Given the description of an element on the screen output the (x, y) to click on. 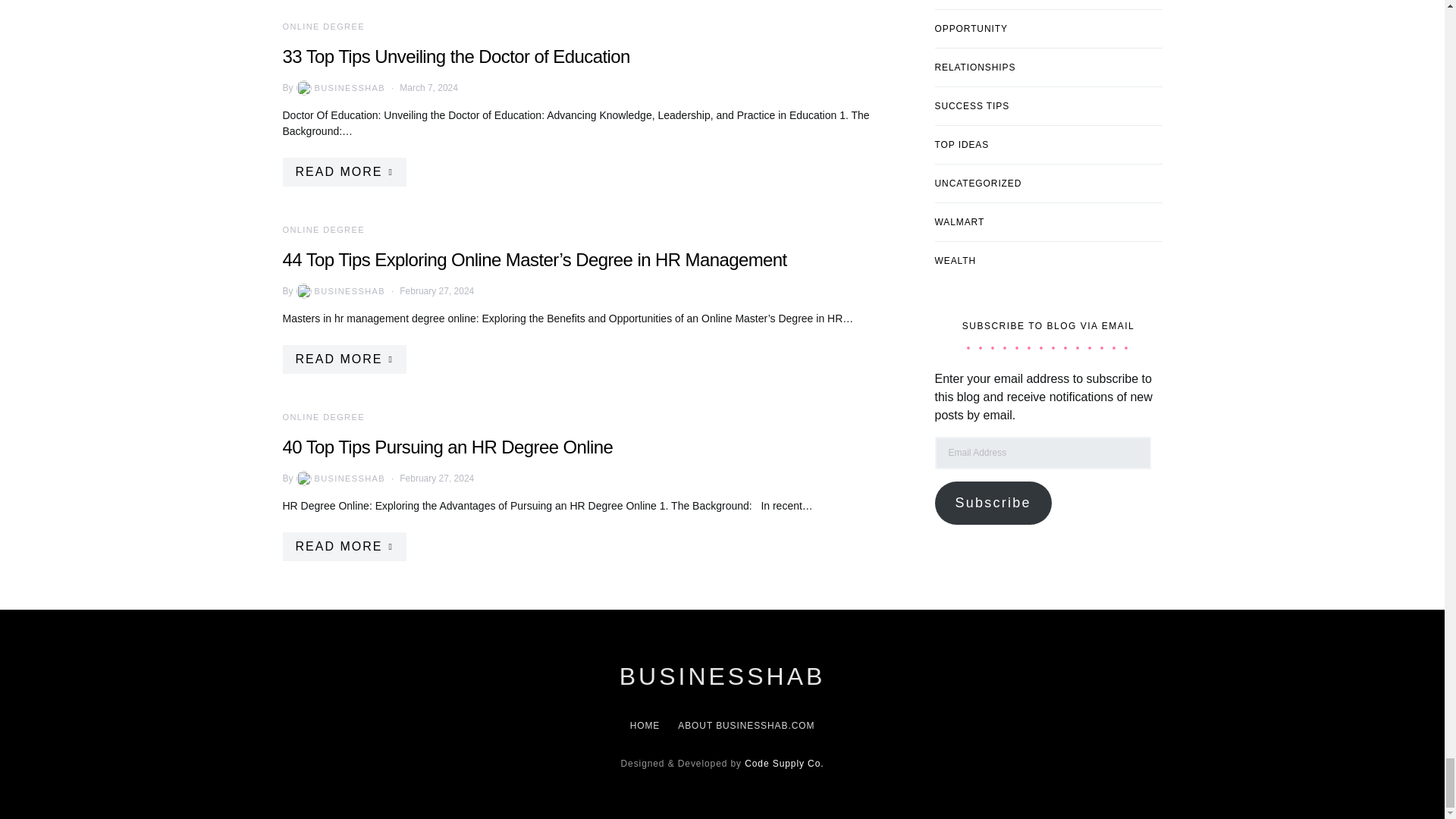
View all posts by BusinessHAB (339, 290)
View all posts by BusinessHAB (339, 478)
View all posts by BusinessHAB (339, 87)
